Given the description of an element on the screen output the (x, y) to click on. 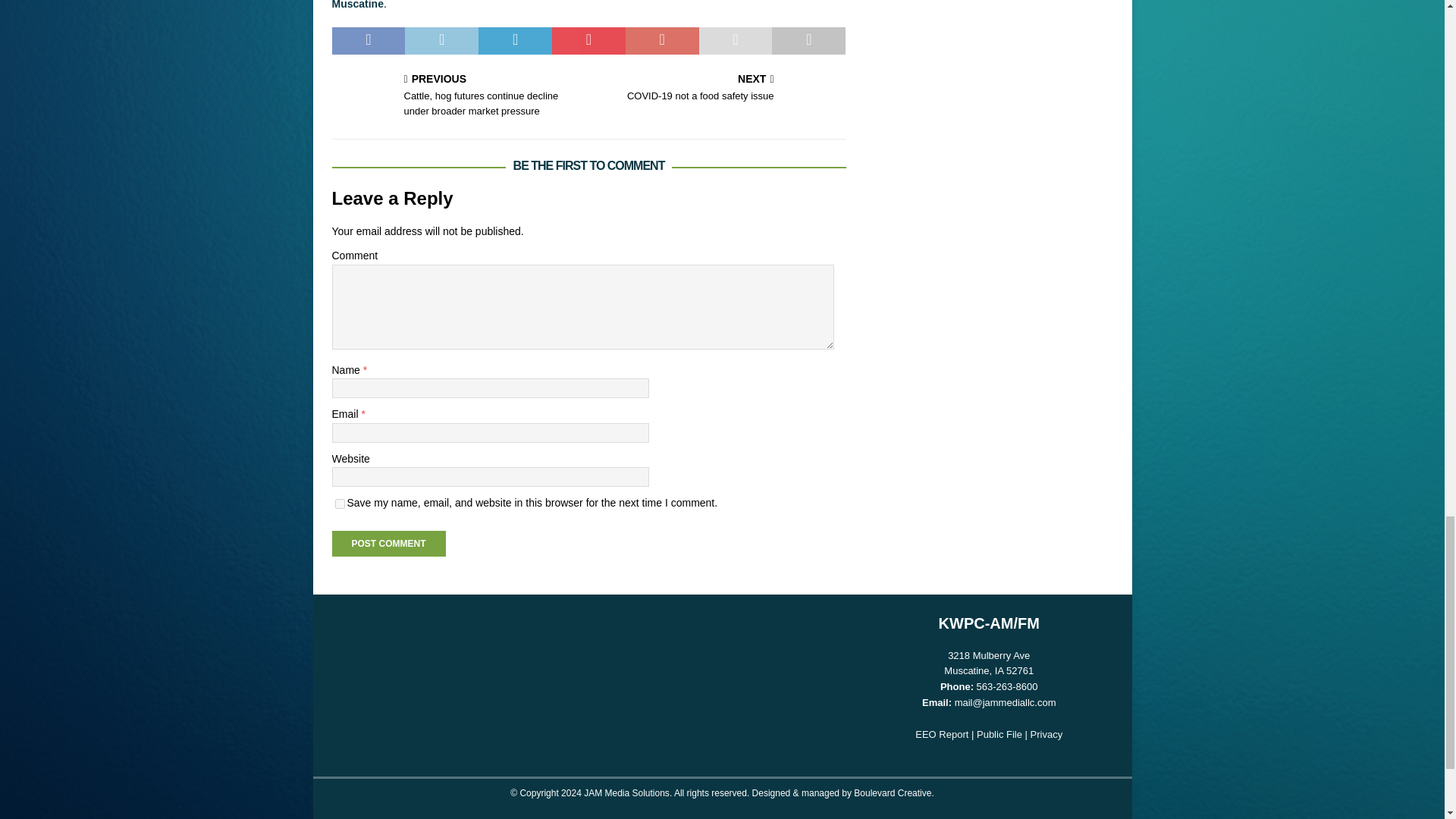
yes (339, 503)
Post Comment (388, 543)
Voice Of Muscatine (579, 4)
